Given the description of an element on the screen output the (x, y) to click on. 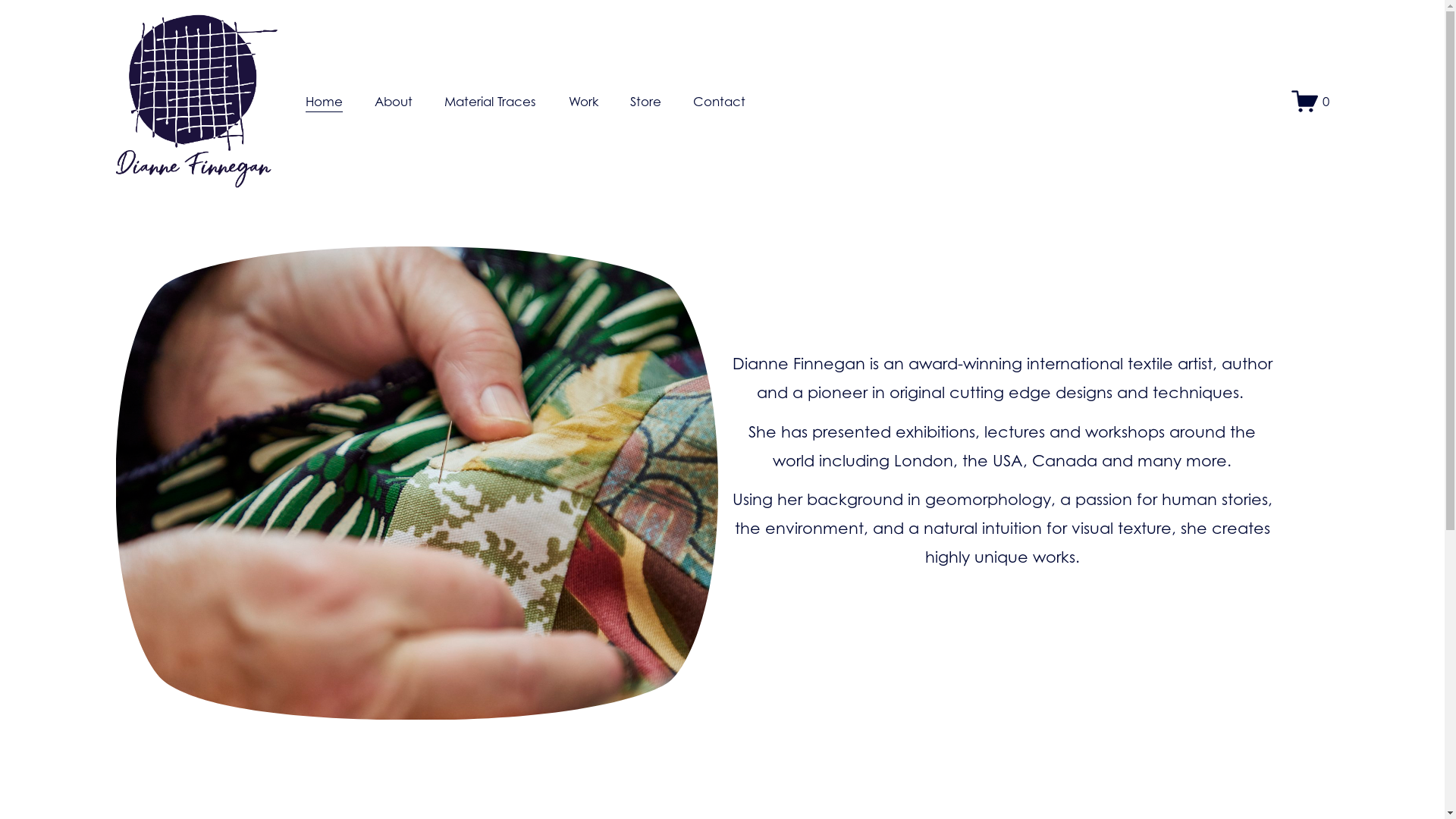
About Element type: text (393, 101)
Material Traces Element type: text (490, 101)
Store Element type: text (645, 101)
Home Element type: text (323, 101)
Work Element type: text (583, 101)
Contact Element type: text (719, 101)
0 Element type: text (1309, 100)
